Given the description of an element on the screen output the (x, y) to click on. 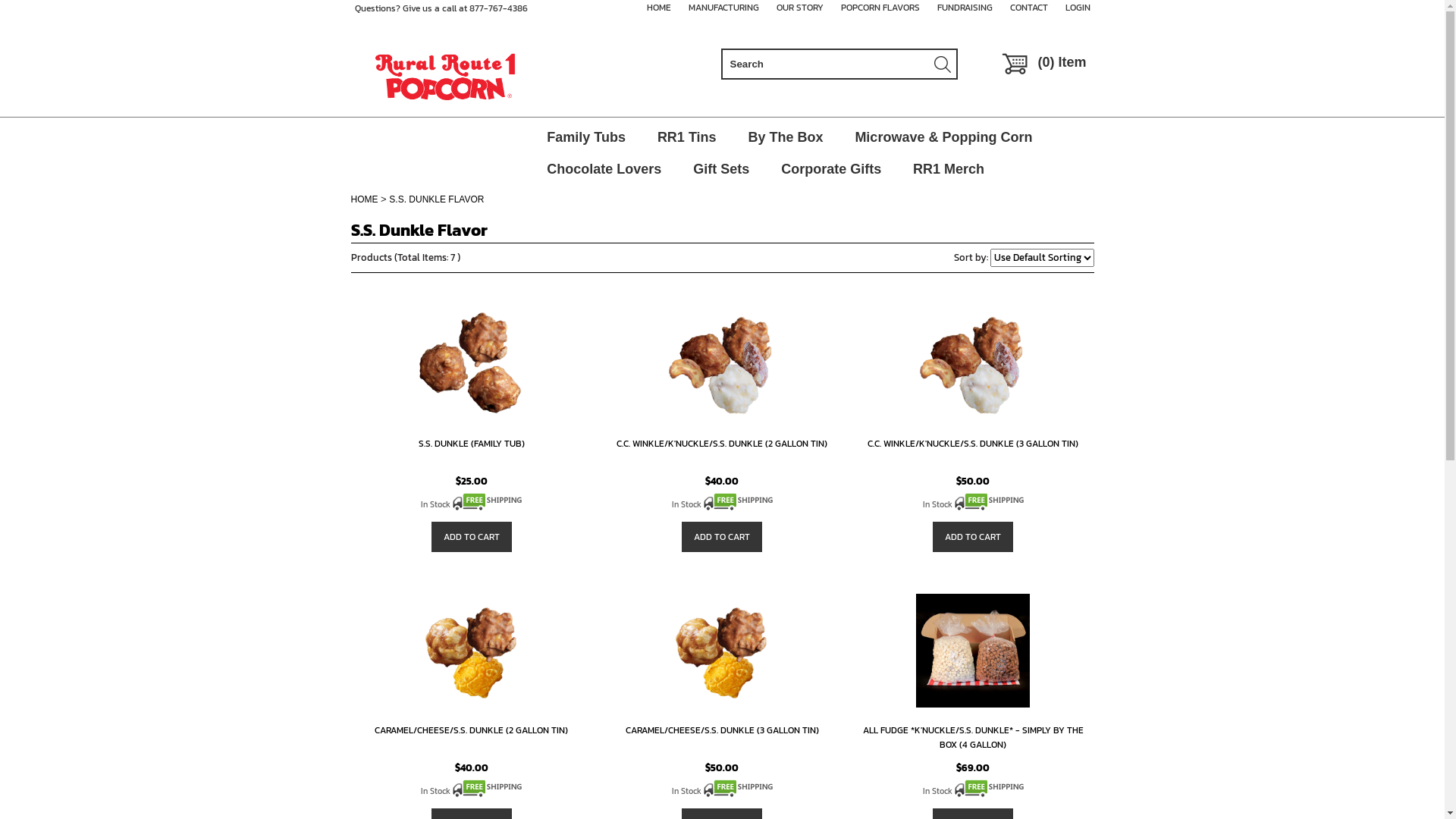
Microwave & Popping Corn Element type: text (942, 133)
C.C. WINKLE/K'NUCKLE/S.S. DUNKLE (2 GALLON TIN) Element type: text (721, 443)
OUR STORY Element type: text (799, 7)
C.C. WINKLE/K'NUCKLE/S.S. DUNKLE (3 GALLON TIN) Element type: text (972, 443)
Corporate Gifts Element type: text (830, 165)
LOGIN Element type: text (1076, 7)
POPCORN FLAVORS Element type: text (879, 7)
RR1 Merch Element type: text (948, 165)
(0) Item Element type: text (1047, 62)
HOME Element type: text (363, 199)
S.S. DUNKLE FLAVOR Element type: text (436, 199)
S.S. DUNKLE (FAMILY TUB) Element type: text (471, 443)
FUNDRAISING Element type: text (964, 7)
CONTACT Element type: text (1029, 7)
Chocolate Lovers Element type: text (604, 165)
Add To Cart Element type: text (972, 536)
By The Box Element type: text (784, 133)
GO Element type: text (37, 10)
Add To Cart Element type: text (721, 536)
CARAMEL/CHEESE/S.S. DUNKLE (2 GALLON TIN) Element type: text (470, 730)
HOME Element type: text (658, 7)
MANUFACTURING Element type: text (723, 7)
CARAMEL/CHEESE/S.S. DUNKLE (3 GALLON TIN) Element type: text (722, 730)
Family Tubs Element type: text (586, 133)
RR1 Tins Element type: text (686, 133)
Gift Sets Element type: text (720, 165)
Add To Cart Element type: text (471, 536)
